Given the description of an element on the screen output the (x, y) to click on. 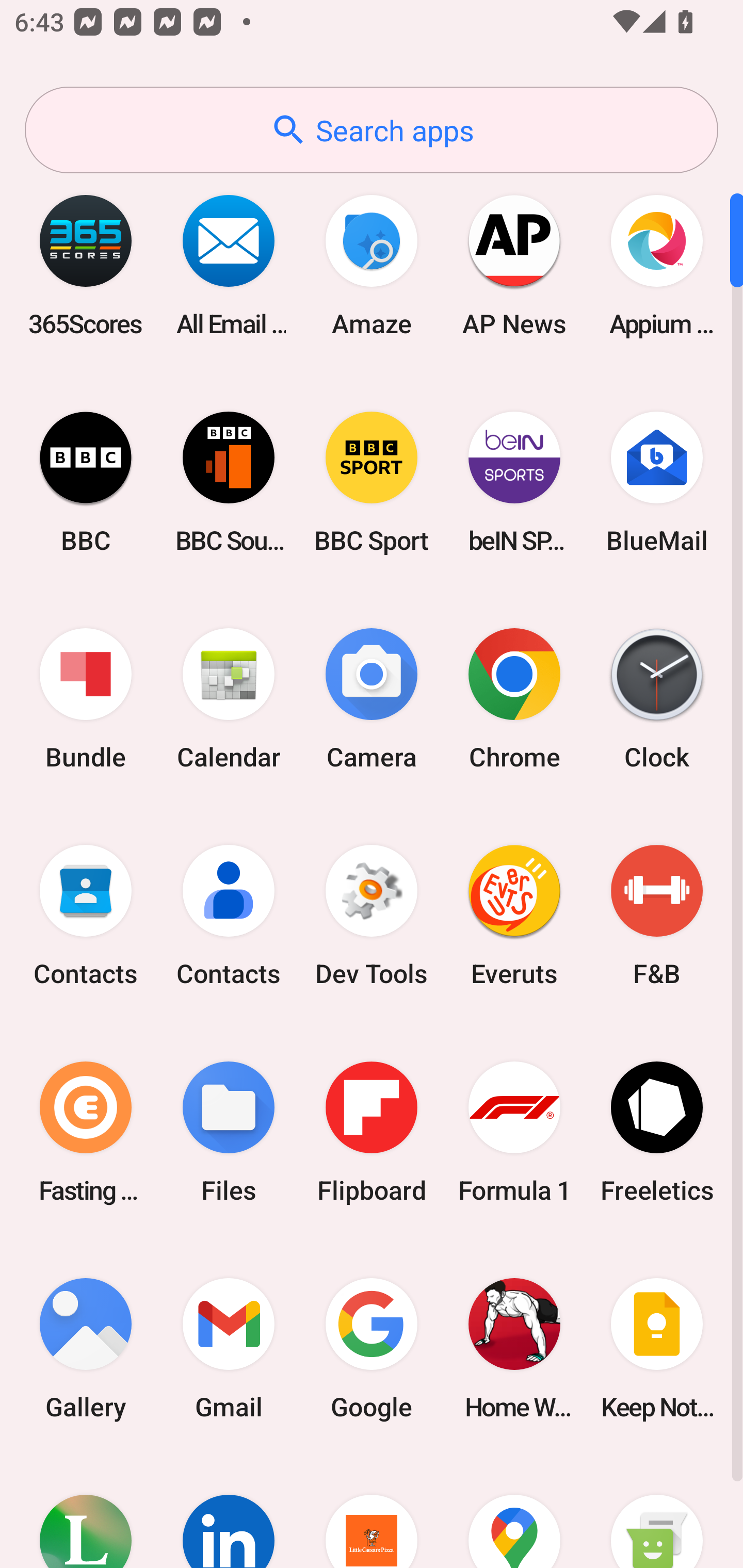
  Search apps (371, 130)
365Scores (85, 264)
All Email Connect (228, 264)
Amaze (371, 264)
AP News (514, 264)
Appium Settings (656, 264)
BBC (85, 482)
BBC Sounds (228, 482)
BBC Sport (371, 482)
beIN SPORTS (514, 482)
BlueMail (656, 482)
Bundle (85, 699)
Calendar (228, 699)
Camera (371, 699)
Chrome (514, 699)
Clock (656, 699)
Contacts (85, 915)
Contacts (228, 915)
Dev Tools (371, 915)
Everuts (514, 915)
F&B (656, 915)
Fasting Coach (85, 1131)
Files (228, 1131)
Flipboard (371, 1131)
Formula 1 (514, 1131)
Freeletics (656, 1131)
Gallery (85, 1348)
Gmail (228, 1348)
Google (371, 1348)
Home Workout (514, 1348)
Keep Notes (656, 1348)
Lifesum (85, 1512)
LinkedIn (228, 1512)
Little Caesars Pizza (371, 1512)
Maps (514, 1512)
Messaging (656, 1512)
